Given the description of an element on the screen output the (x, y) to click on. 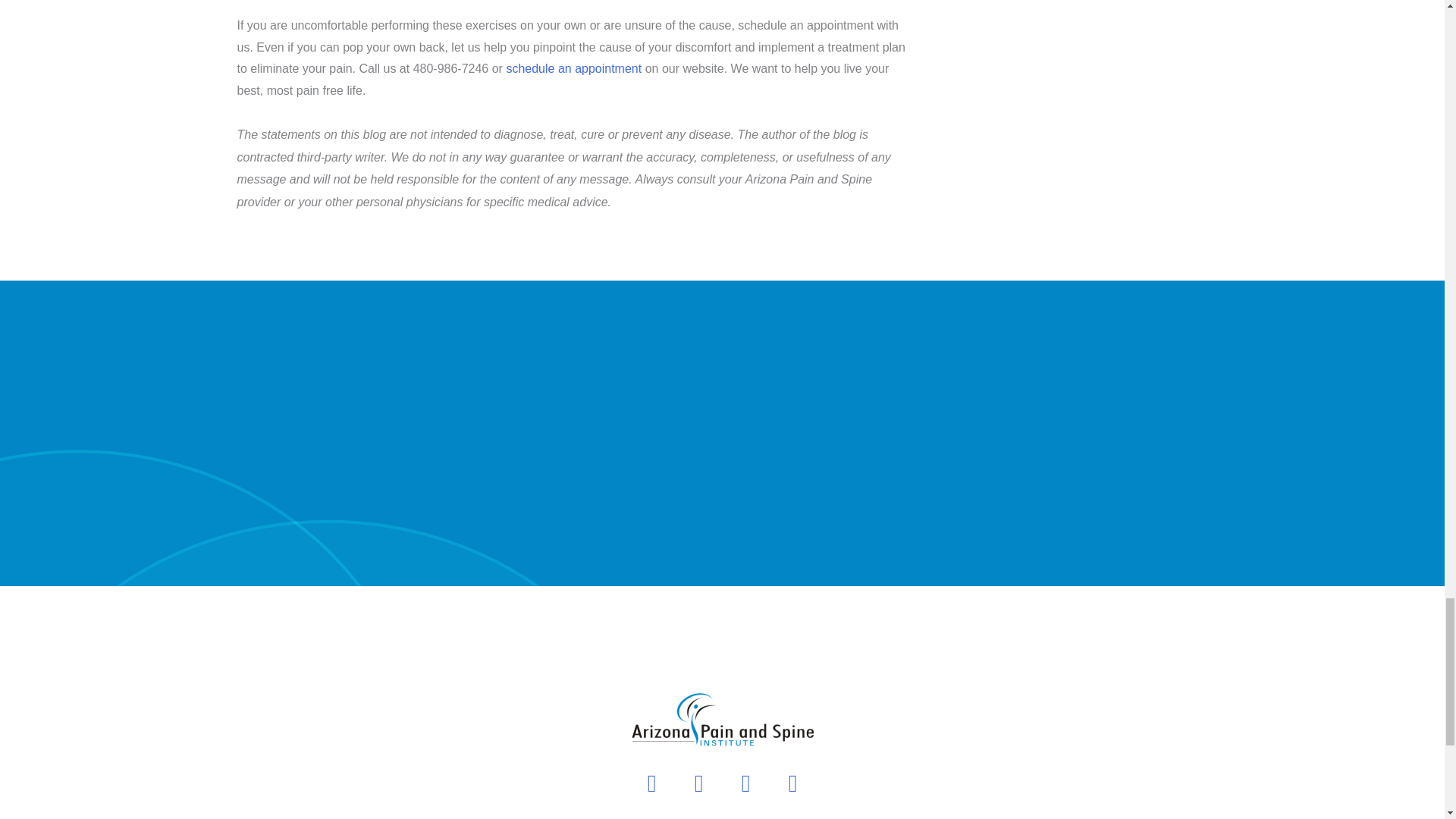
GPA Logo (721, 719)
Youtube (651, 783)
Facebook (699, 783)
TikTok (792, 783)
